Given the description of an element on the screen output the (x, y) to click on. 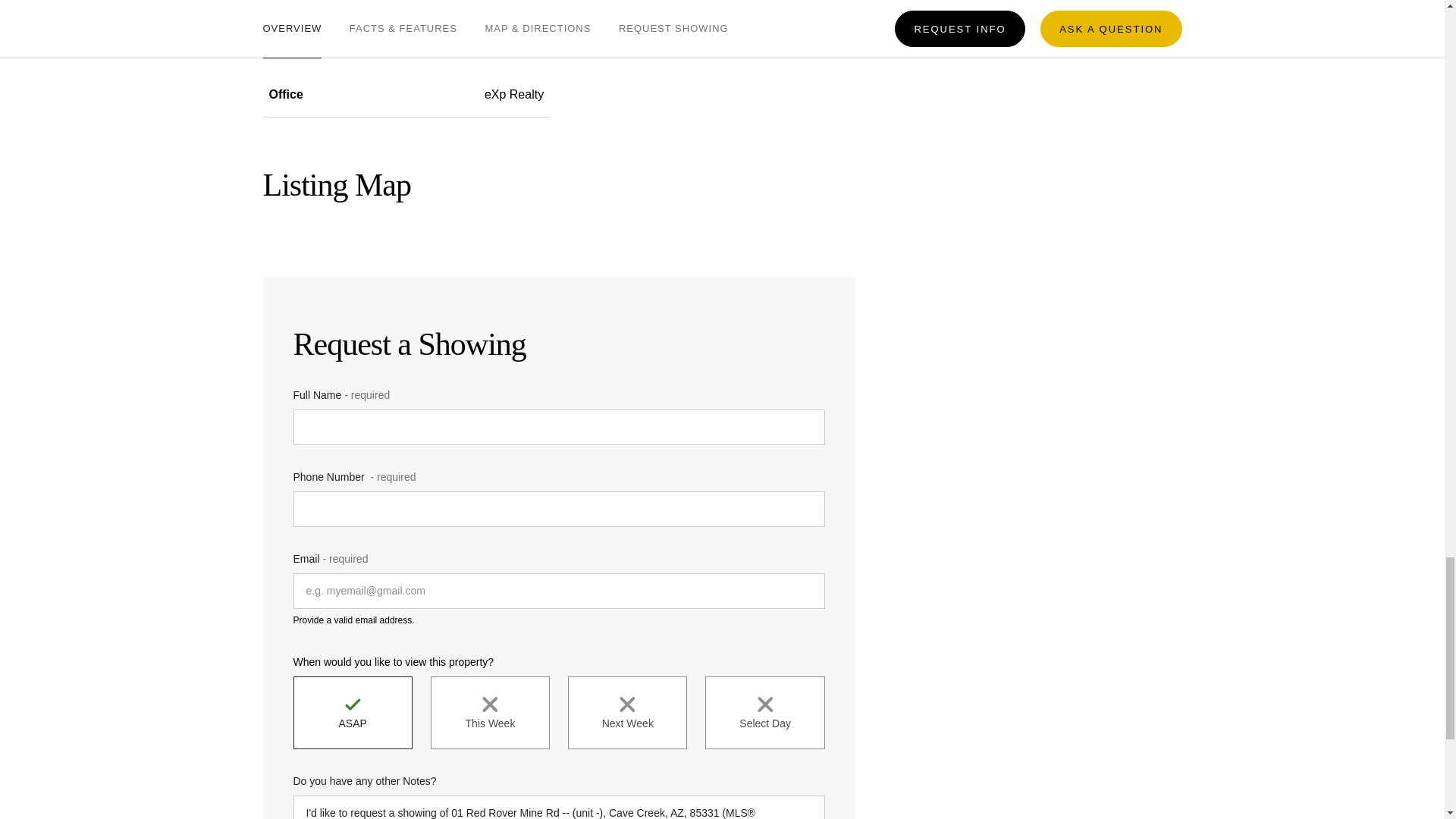
This Week (490, 712)
Next Week (627, 712)
ASAP (352, 712)
